Given the description of an element on the screen output the (x, y) to click on. 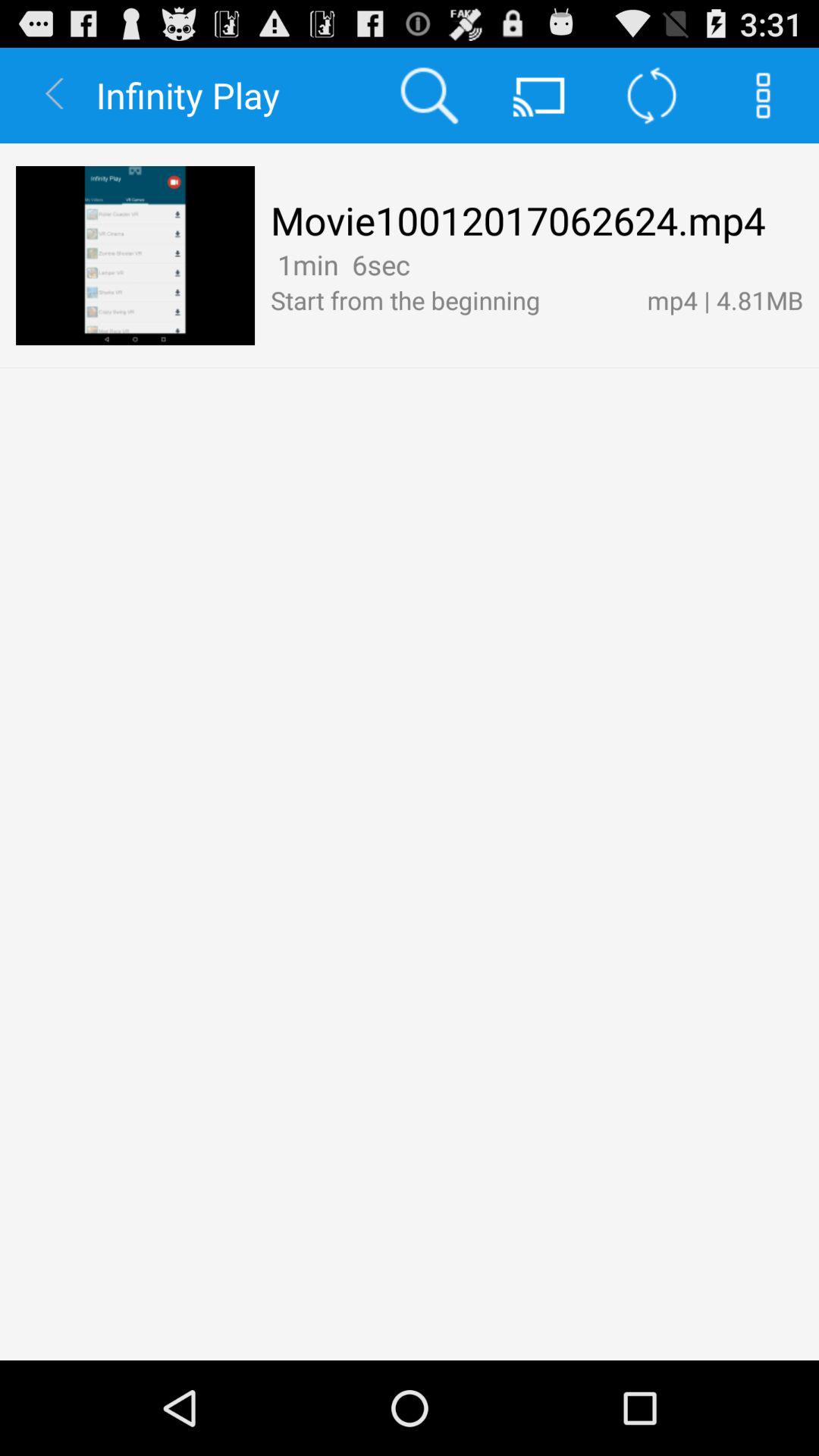
click the item to the left of the movie10012017062624.mp4 icon (134, 255)
